Given the description of an element on the screen output the (x, y) to click on. 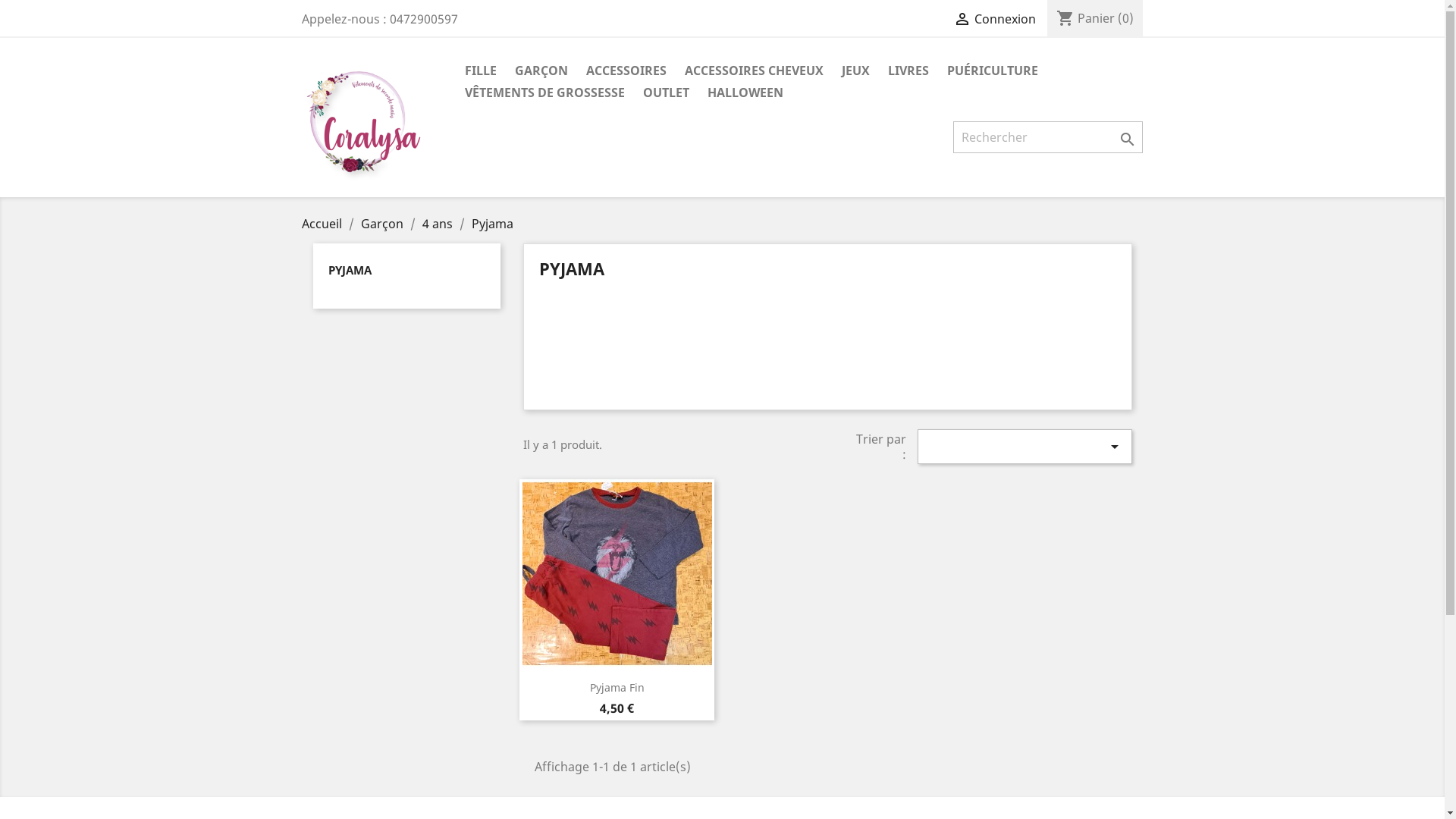
JEUX Element type: text (855, 71)
LIVRES Element type: text (907, 71)
Accueil Element type: text (323, 223)
ACCESSOIRES Element type: text (625, 71)
OUTLET Element type: text (665, 93)
HALLOWEEN Element type: text (744, 93)
ACCESSOIRES CHEVEUX Element type: text (753, 71)
FILLE Element type: text (479, 71)
4 ans Element type: text (438, 223)
PYJAMA Element type: text (348, 269)
Pyjama Element type: text (492, 223)
Pyjama Fin Element type: text (616, 687)
